Given the description of an element on the screen output the (x, y) to click on. 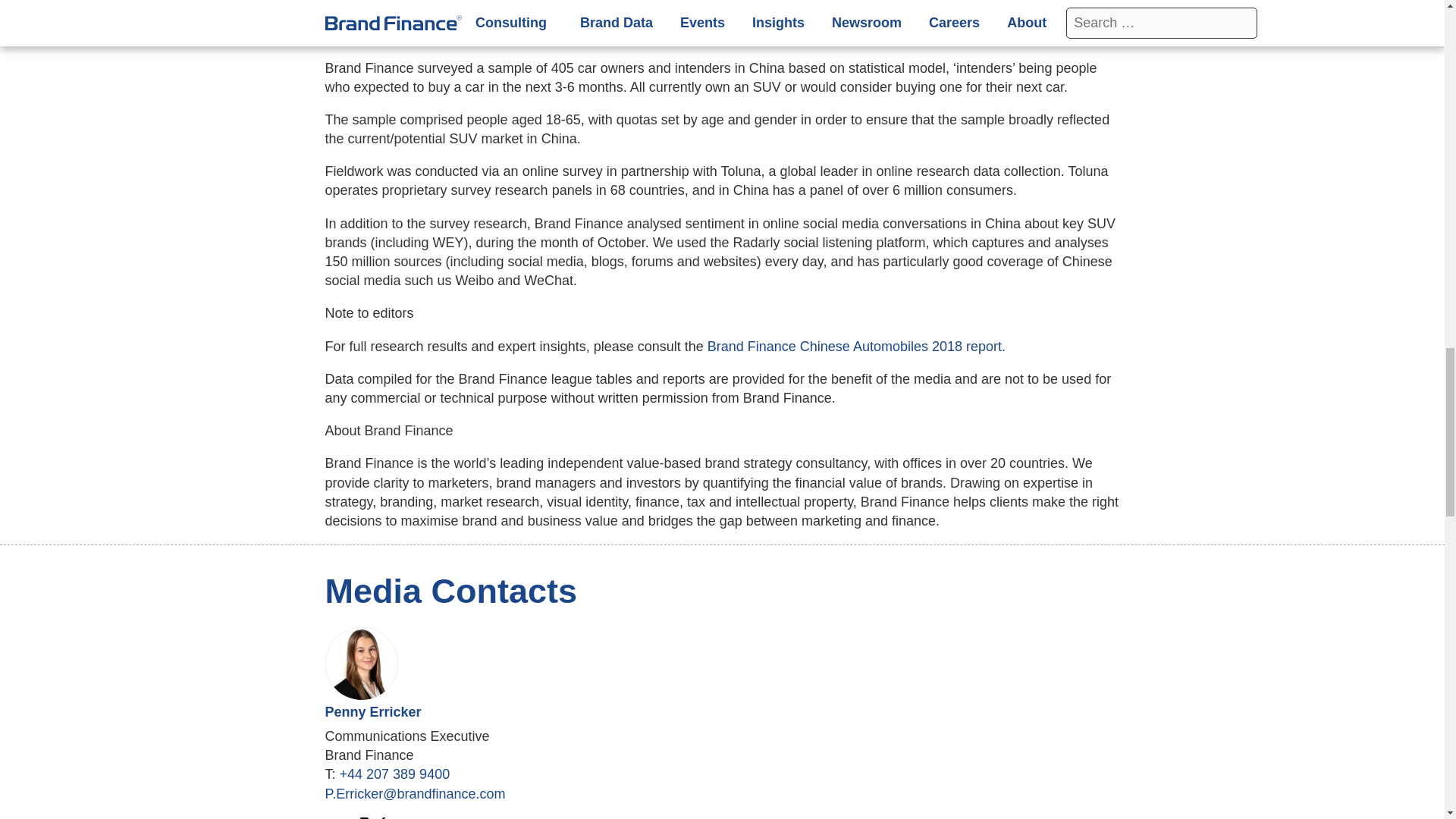
Instagram (441, 818)
Penny Erricker (372, 711)
Brand Finance Chinese Automobiles 2018 report. (856, 346)
Twitter (373, 818)
Facebook (406, 818)
LinkedIn (338, 818)
